Given the description of an element on the screen output the (x, y) to click on. 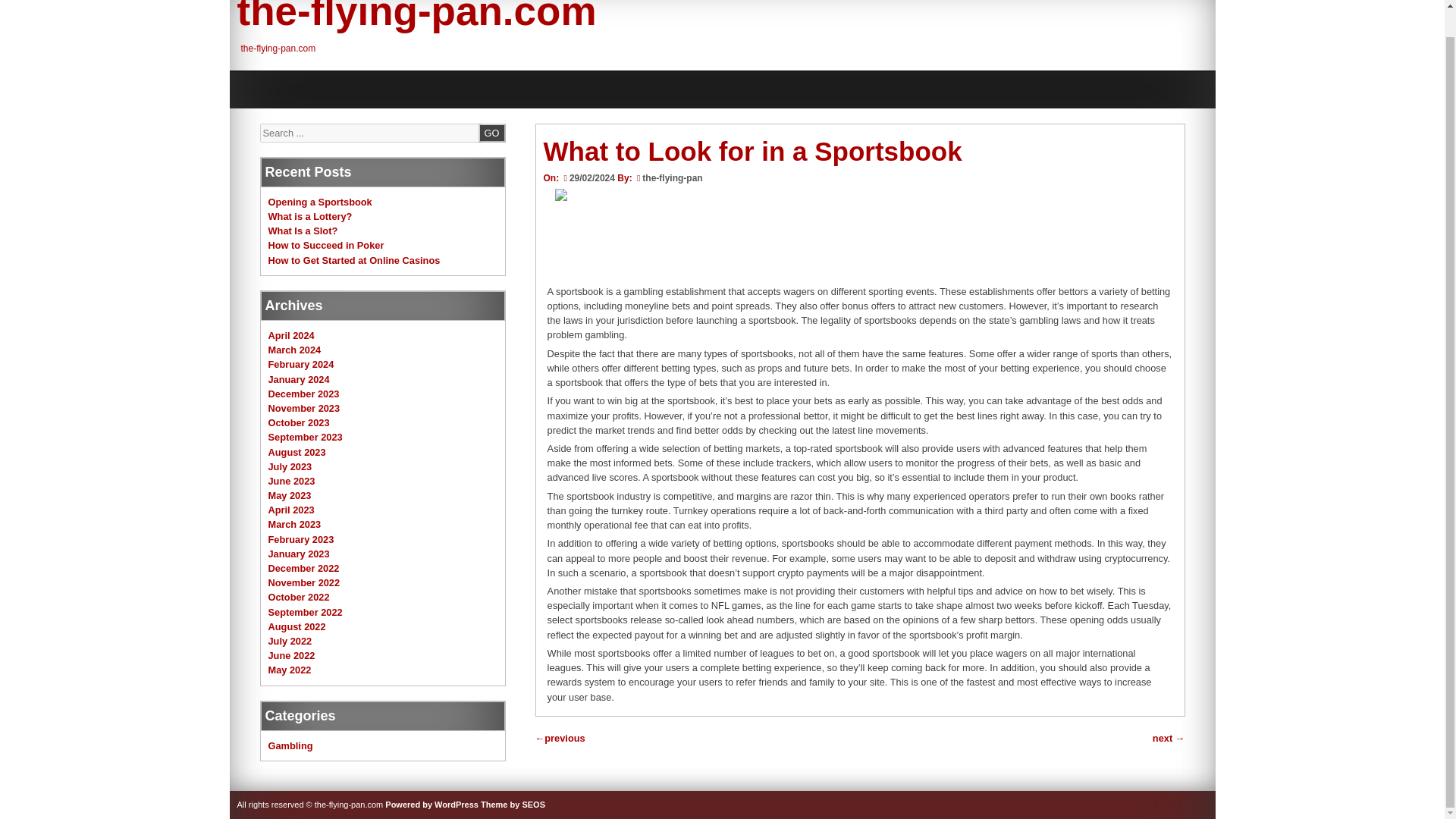
August 2023 (296, 451)
October 2022 (298, 596)
April 2023 (290, 509)
July 2023 (290, 466)
How to Succeed in Poker (325, 244)
February 2024 (300, 364)
November 2022 (303, 582)
March 2023 (294, 523)
December 2022 (303, 568)
What Is a Slot? (302, 230)
